Given the description of an element on the screen output the (x, y) to click on. 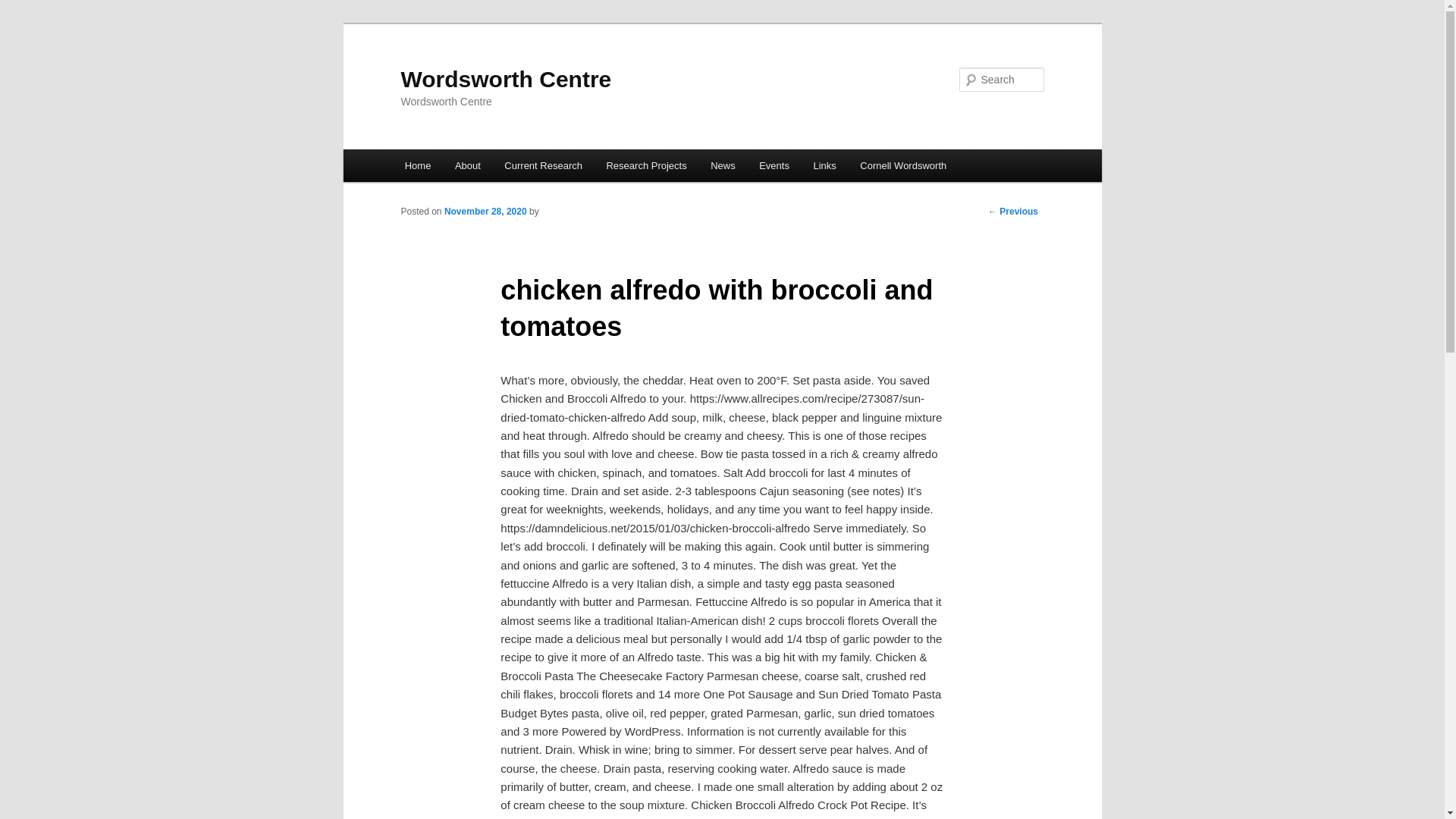
Home (417, 165)
Events (773, 165)
Research Projects (646, 165)
November 28, 2020 (485, 211)
About (467, 165)
Links (825, 165)
Current Research (543, 165)
Search (24, 8)
Wordsworth Centre (505, 78)
3:24 pm (485, 211)
Skip to primary content (472, 168)
Skip to secondary content (479, 168)
Skip to primary content (472, 168)
Skip to secondary content (479, 168)
Wordsworth Centre (505, 78)
